Given the description of an element on the screen output the (x, y) to click on. 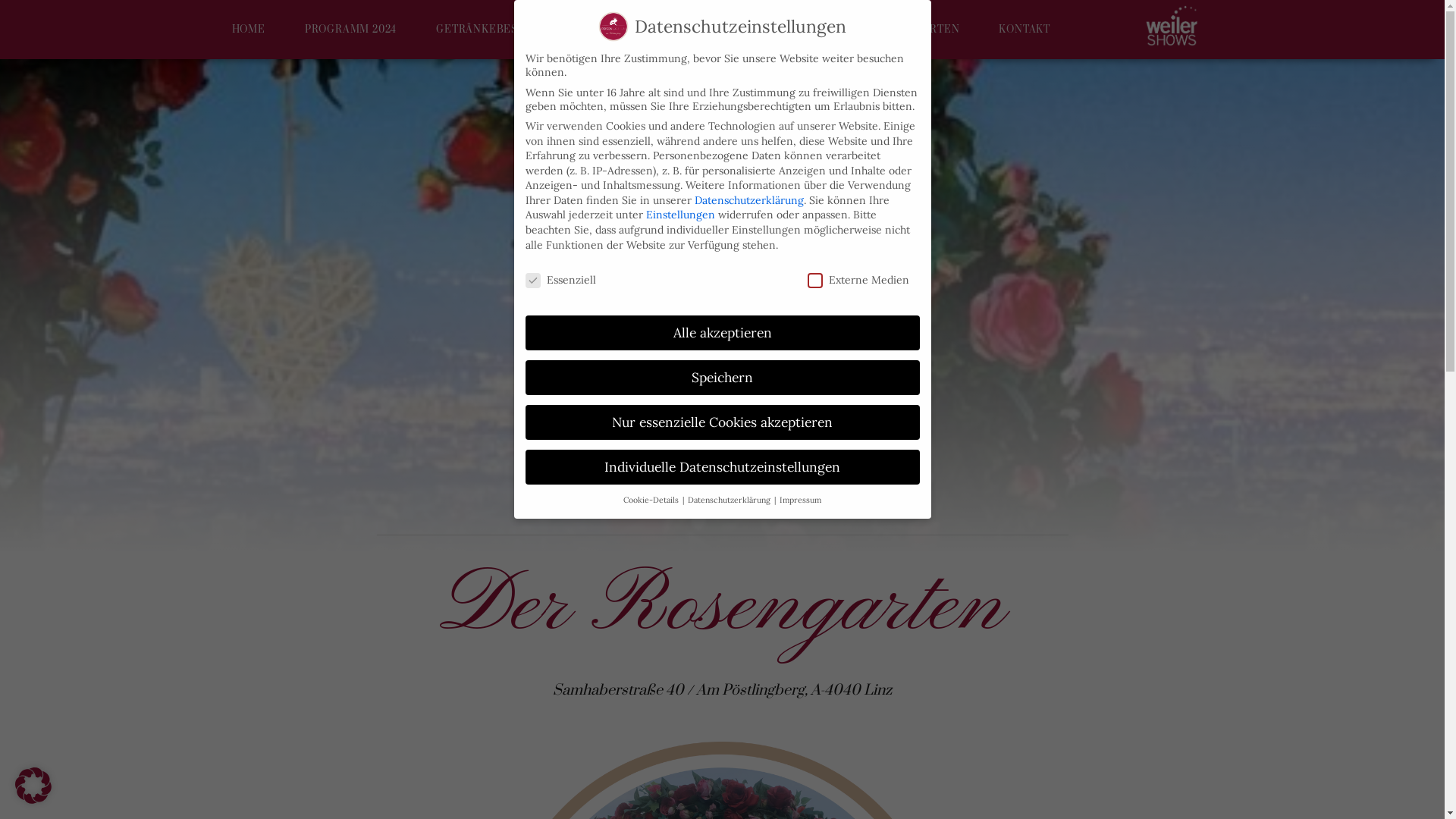
Einstellungen Element type: text (680, 214)
NEWSLETTER Element type: text (772, 29)
PROGRAMM 2024 Element type: text (350, 29)
Alle akzeptieren Element type: text (721, 332)
GUTSCHEINE Element type: text (659, 29)
Impressum Element type: text (800, 499)
Cookie-Details Element type: text (651, 499)
Nur essenzielle Cookies akzeptieren Element type: text (721, 421)
Speichern Element type: text (721, 377)
DER ROSENGARTEN Element type: text (904, 29)
Kontakt 1 Element type: hover (722, 378)
KONTAKT Element type: text (1024, 29)
Individuelle Datenschutzeinstellungen Element type: text (721, 466)
HOME Element type: text (248, 29)
